Given the description of an element on the screen output the (x, y) to click on. 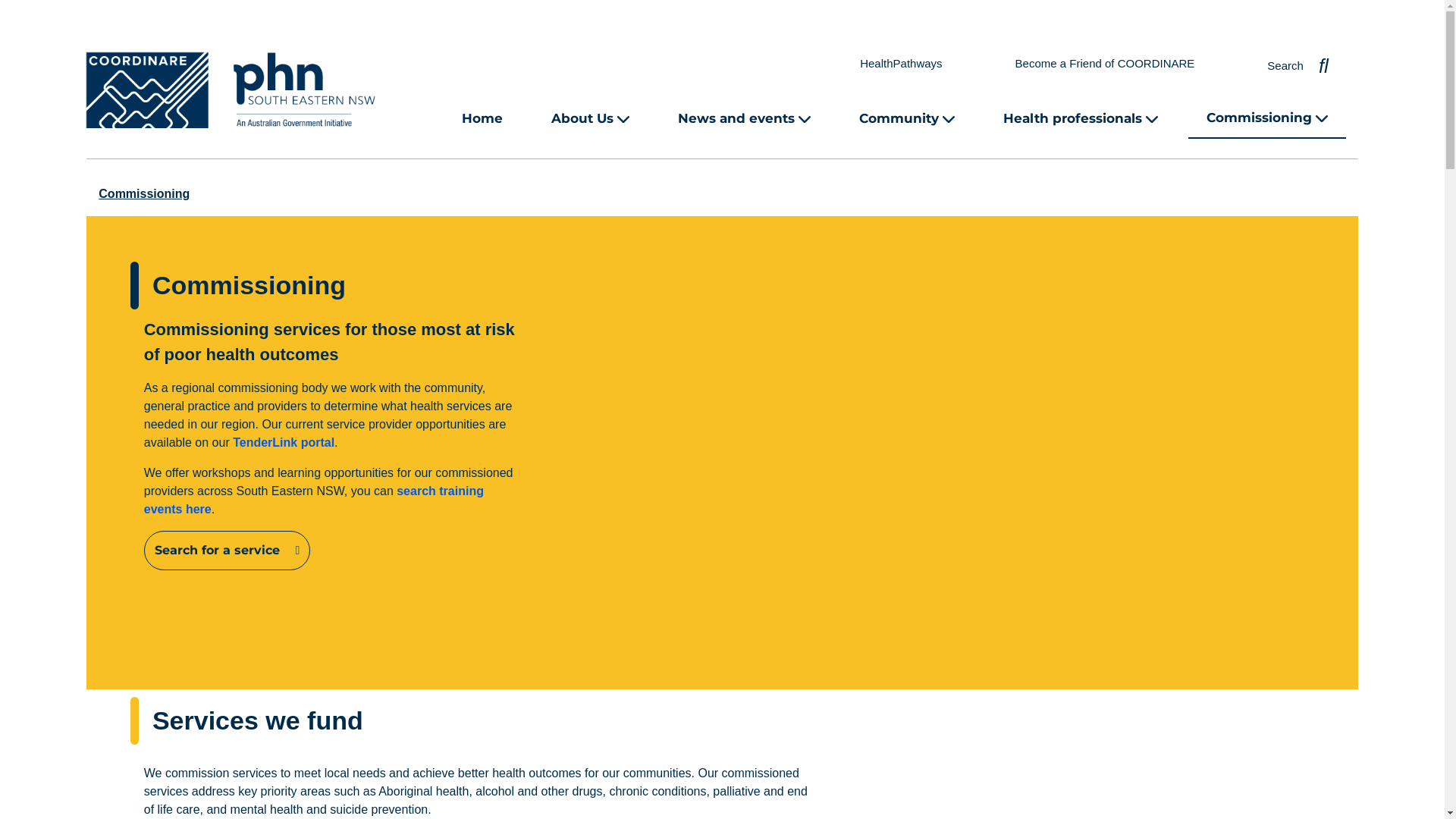
Commissioning Element type: text (143, 193)
Community Element type: text (906, 118)
Home Element type: text (481, 119)
HealthPathways Element type: text (900, 63)
Search for a service Element type: text (227, 550)
Health professionals Element type: text (1080, 118)
News and events Element type: text (743, 118)
Commissioning Element type: text (1267, 117)
search training events here Element type: text (313, 499)
TenderLink portal Element type: text (283, 442)
About Us Element type: text (590, 118)
Search Element type: text (1297, 62)
External Link
Become a Friend of COORDINARE Element type: text (1105, 63)
